Given the description of an element on the screen output the (x, y) to click on. 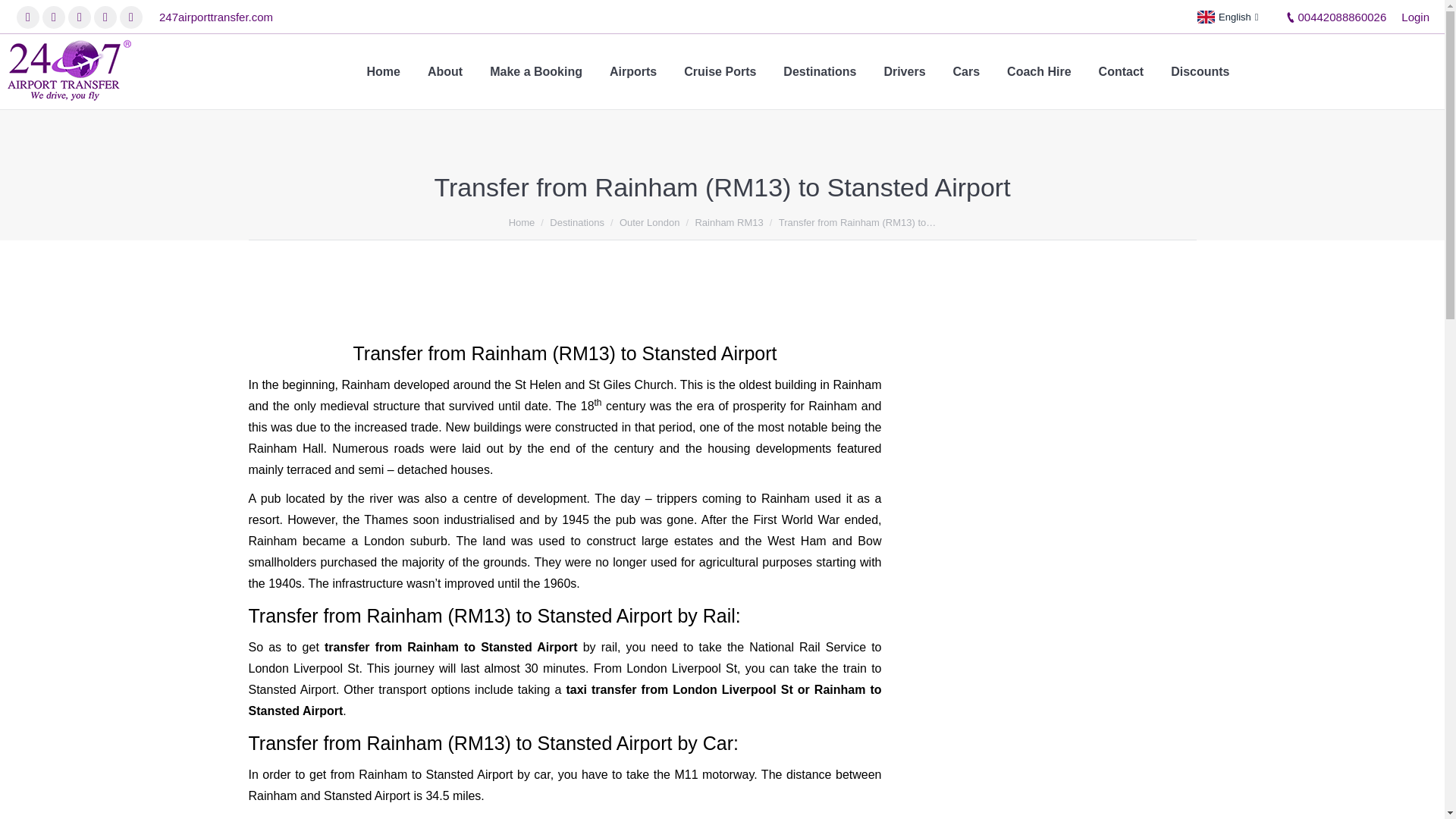
Facebook (27, 16)
Facebook (27, 16)
Website (130, 16)
Instagram (79, 16)
Make a Booking (535, 71)
Twitter (53, 16)
Airports (633, 71)
Instagram (79, 16)
YouTube (105, 16)
247airporttransfer.com (215, 16)
